Given the description of an element on the screen output the (x, y) to click on. 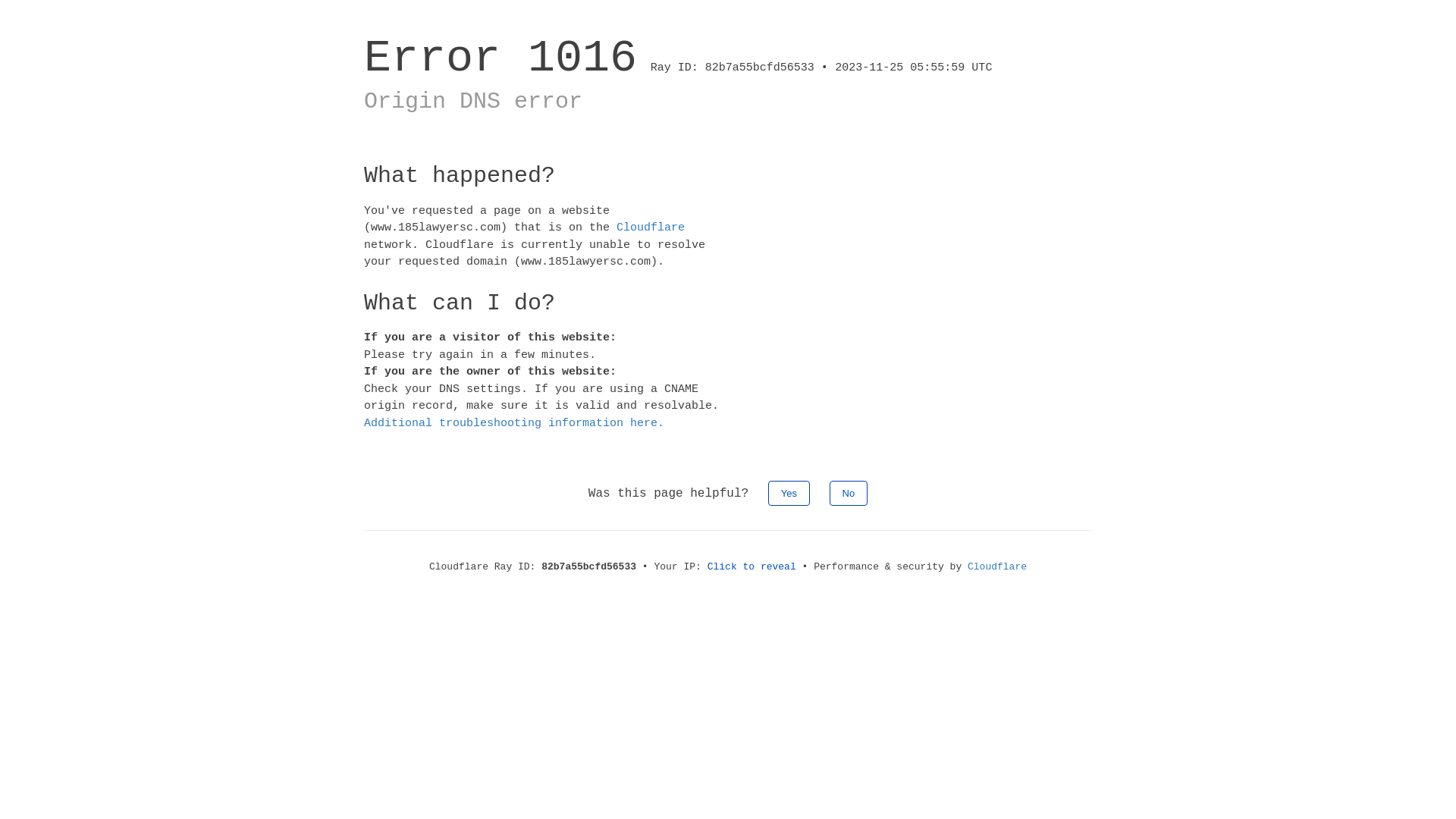
Additional troubleshooting information here. Element type: text (514, 423)
Click to reveal Element type: text (751, 566)
Cloudflare Element type: text (996, 566)
Yes Element type: text (788, 492)
Cloudflare Element type: text (650, 227)
No Element type: text (848, 492)
